Given the description of an element on the screen output the (x, y) to click on. 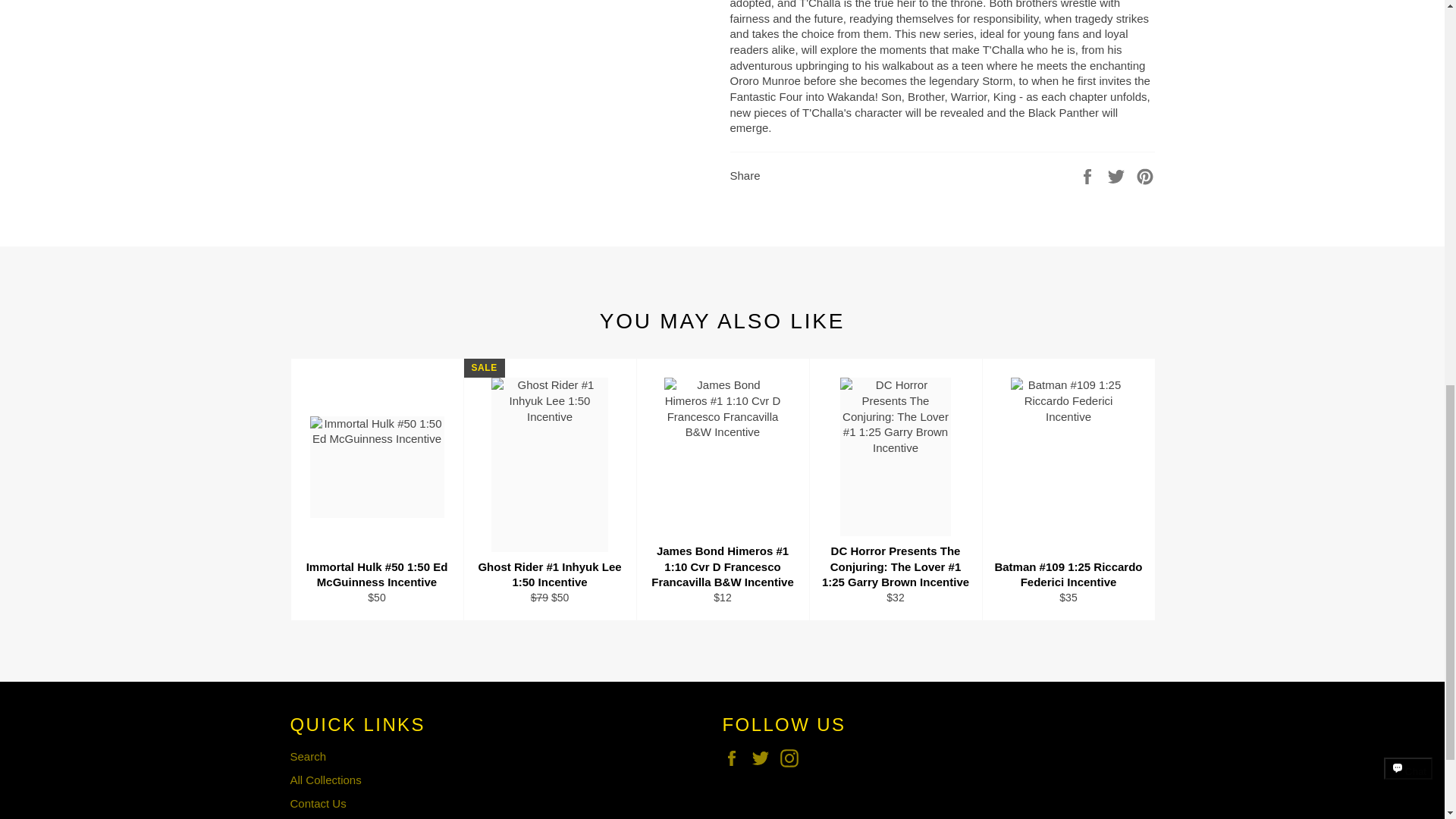
Tweet on Twitter (1117, 174)
Share on Facebook (1088, 174)
Pin on Pinterest (1144, 174)
The Vault Comix on Instagram (793, 758)
The Vault Comix on Twitter (764, 758)
Share on Facebook (1088, 174)
The Vault Comix on Facebook (735, 758)
